Given the description of an element on the screen output the (x, y) to click on. 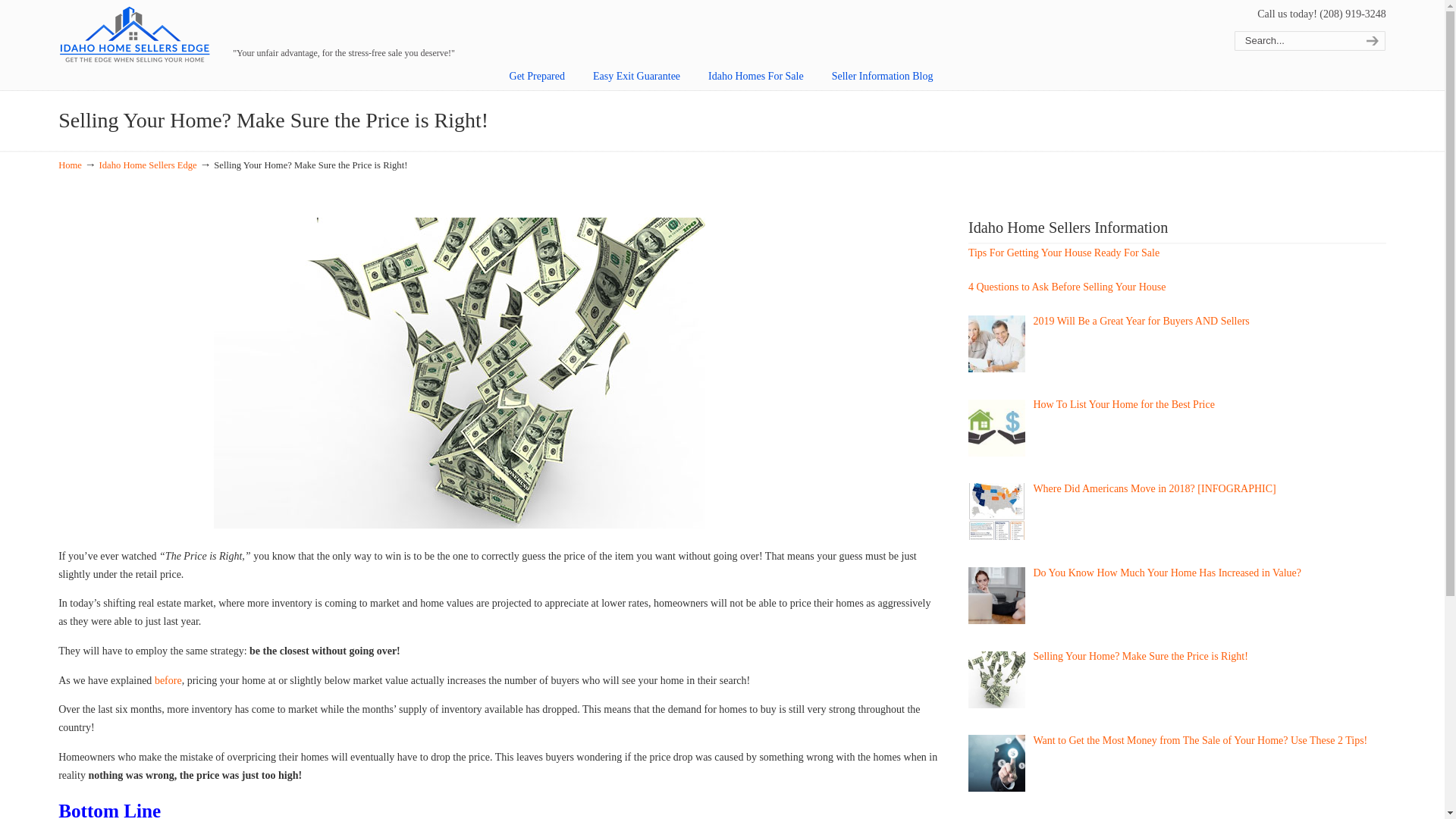
Get Prepared (537, 76)
2019 Will Be a Great Year for Buyers AND Sellers (1140, 320)
Idaho Home Seller's Edge (134, 34)
search (1370, 40)
Idaho Home Seller's Edge (134, 34)
Idaho Home Sellers Edge (147, 164)
4 Questions to Ask Before Selling Your House (1067, 286)
search (1370, 40)
How To List Your Home for the Best Price (1123, 404)
Seller Information Blog (882, 76)
Tips For Getting Your House Ready For Sale (1063, 252)
Home (69, 164)
Easy Exit Guarantee (636, 76)
Idaho Homes For Sale (755, 76)
